Given the description of an element on the screen output the (x, y) to click on. 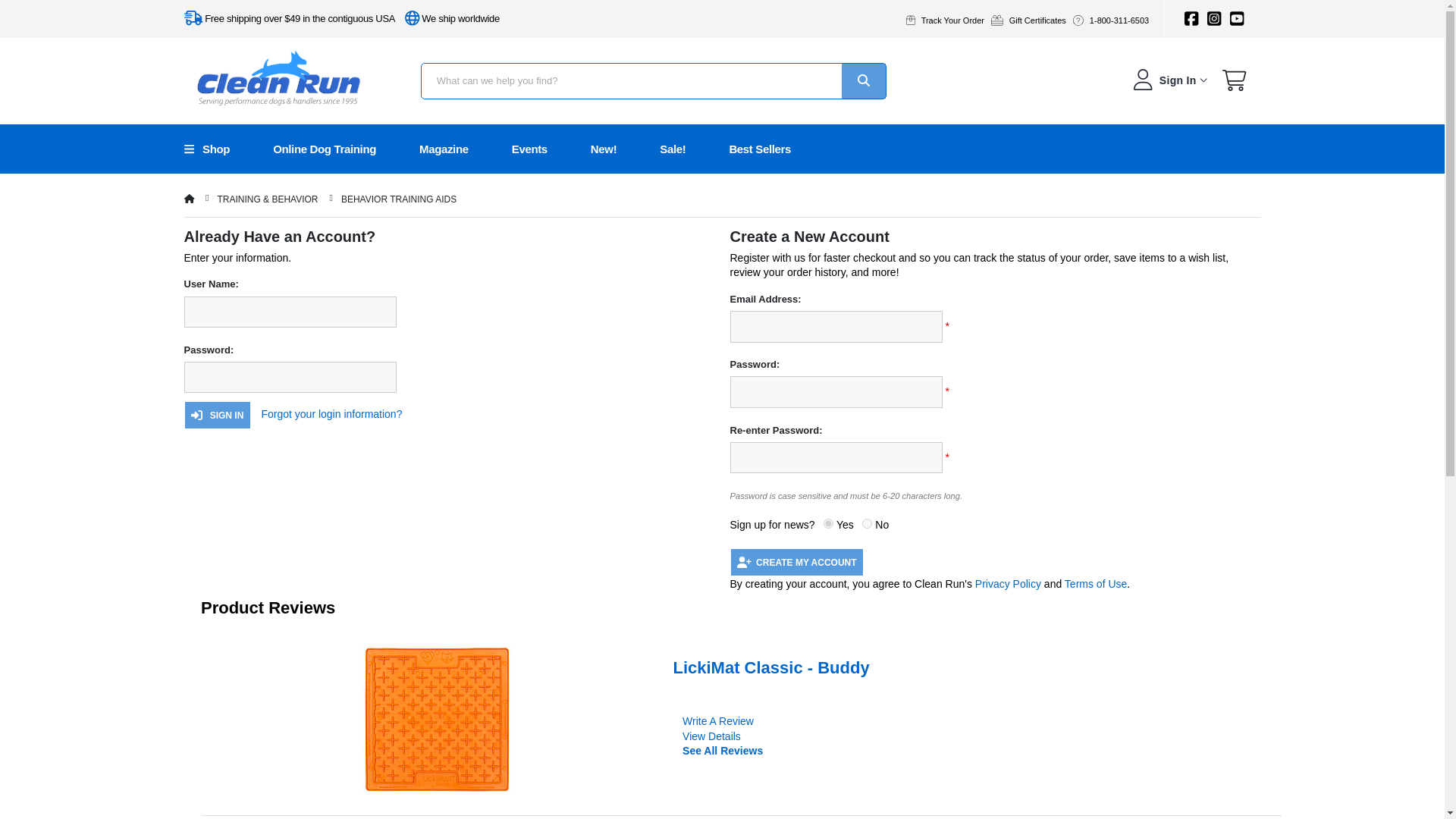
Cart (1234, 83)
   Shop (222, 148)
Sign In (1168, 80)
Track Your Order   (948, 20)
Gift Certificates   (1032, 20)
1-800-311-6503   (1113, 20)
search (863, 80)
1 (828, 523)
0 (866, 523)
